Given the description of an element on the screen output the (x, y) to click on. 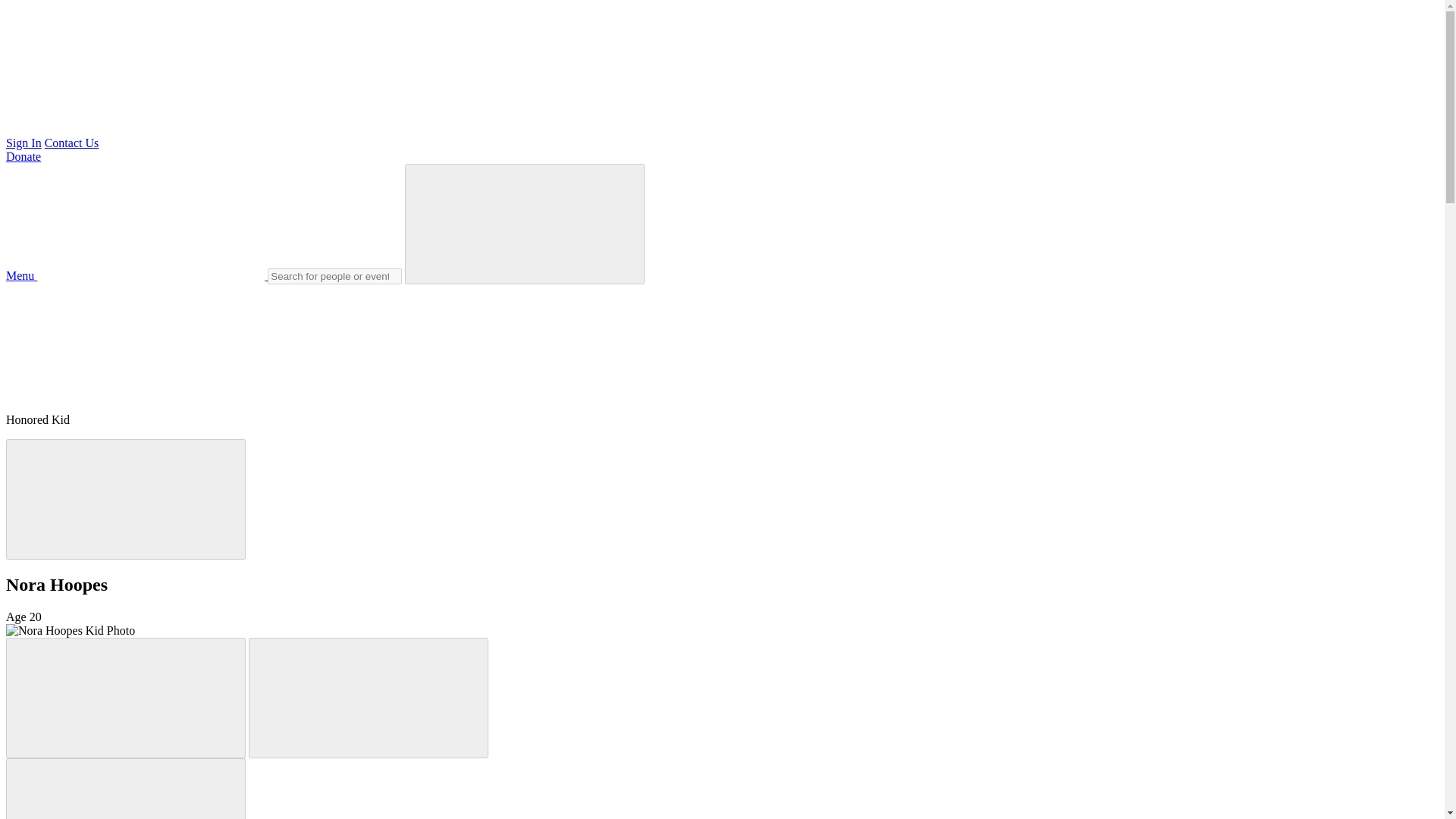
Menu (136, 275)
info heart gift pin clock View on Map View Facebook Page (118, 341)
Contact Us (72, 142)
Sign In (23, 142)
Donate (22, 155)
